Given the description of an element on the screen output the (x, y) to click on. 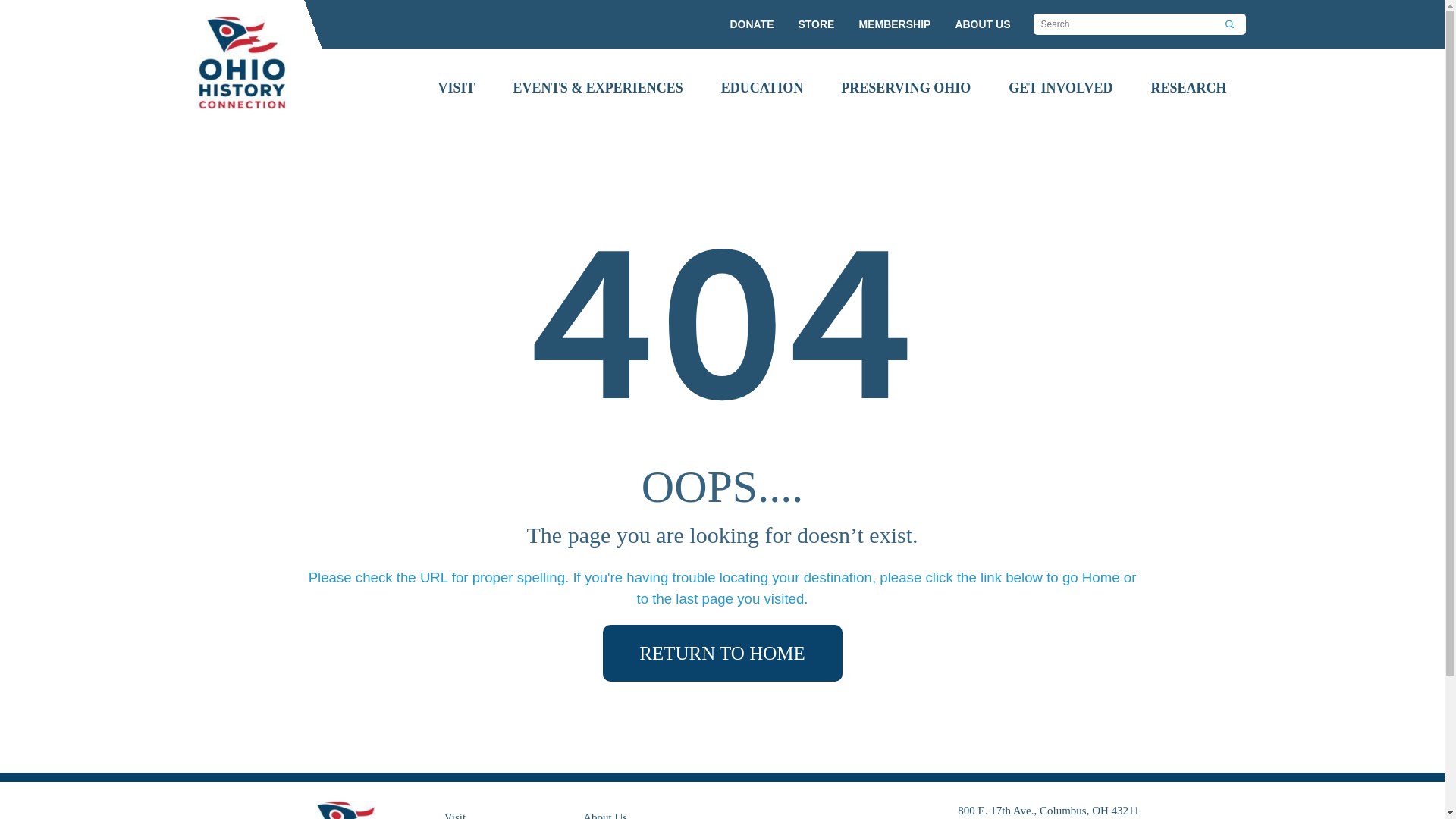
EDUCATION (761, 87)
VISIT (457, 87)
DONATE (751, 24)
ABOUT US (982, 24)
MEMBERSHIP (894, 24)
STORE (815, 24)
